Given the description of an element on the screen output the (x, y) to click on. 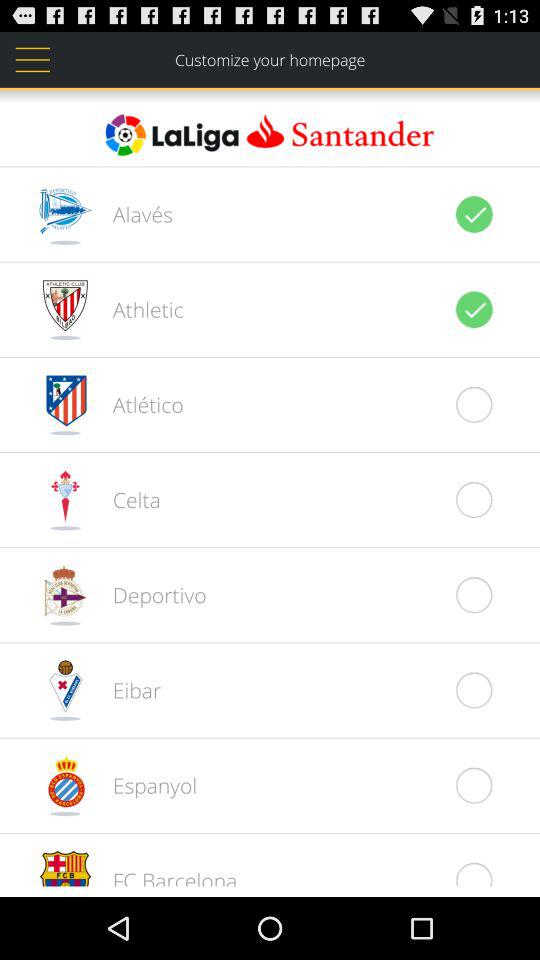
press deportivo item (148, 594)
